Given the description of an element on the screen output the (x, y) to click on. 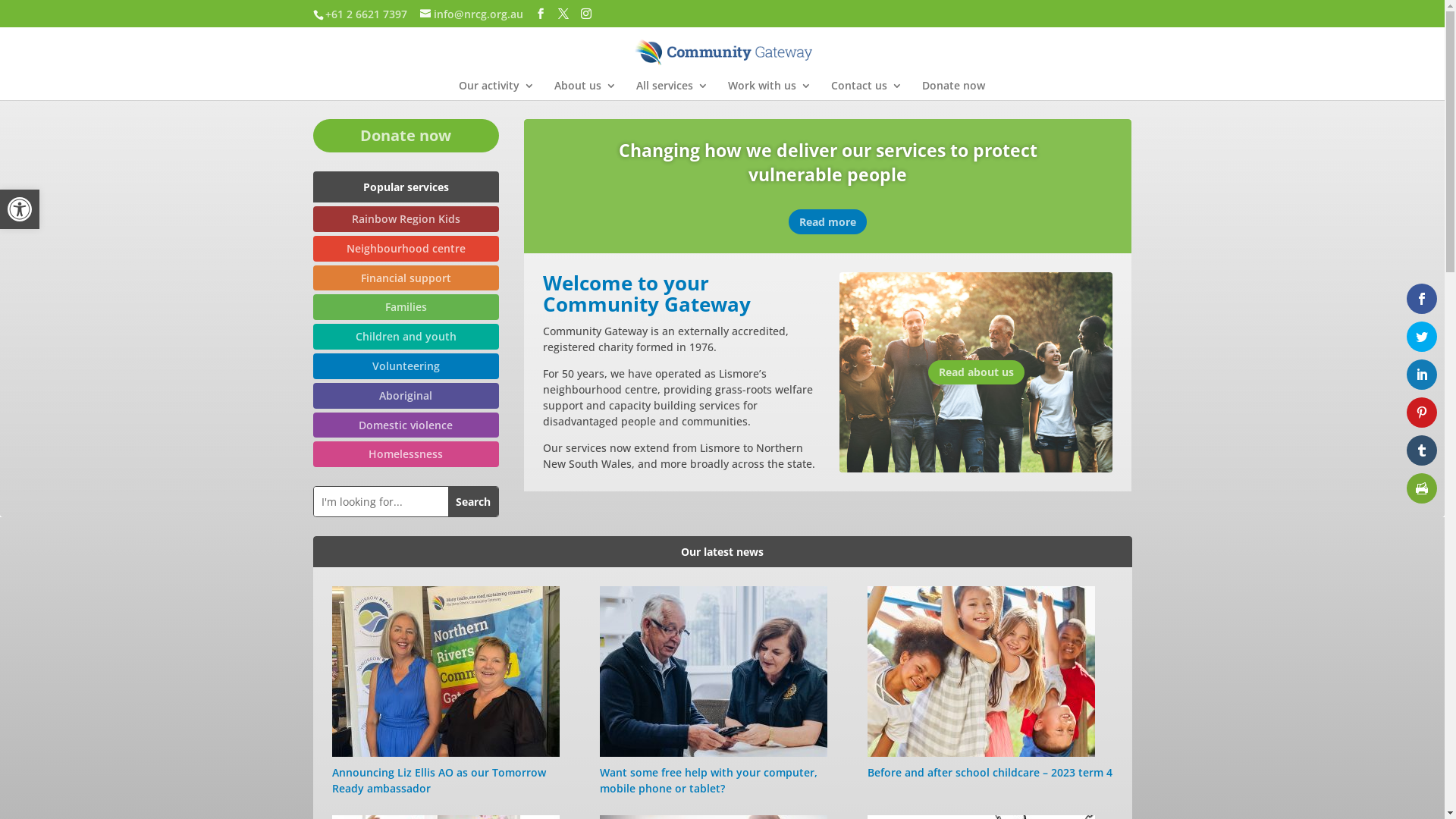
Children and youth Element type: text (405, 336)
Our activity Element type: text (495, 90)
Aboriginal Element type: text (405, 395)
Search Element type: text (473, 501)
Work with us Element type: text (769, 90)
Rainbow Region Kids Element type: text (405, 219)
Read more Element type: text (827, 221)
Homelessness Element type: text (405, 454)
Domestic violence Element type: text (405, 425)
Donate now Element type: text (953, 90)
About us Element type: text (584, 90)
Financial support Element type: text (405, 278)
Donate now Element type: text (405, 135)
info@nrcg.org.au Element type: text (471, 13)
Contact us Element type: text (866, 90)
Read about us Element type: text (976, 372)
Announcing Liz Ellis AO as our Tomorrow Ready ambassador Element type: text (439, 780)
Volunteering Element type: text (405, 366)
Neighbourhood centre Element type: text (405, 248)
All services Element type: text (671, 90)
Families Element type: text (405, 307)
Open toolbar
Accessibility options Element type: text (19, 209)
